Given the description of an element on the screen output the (x, y) to click on. 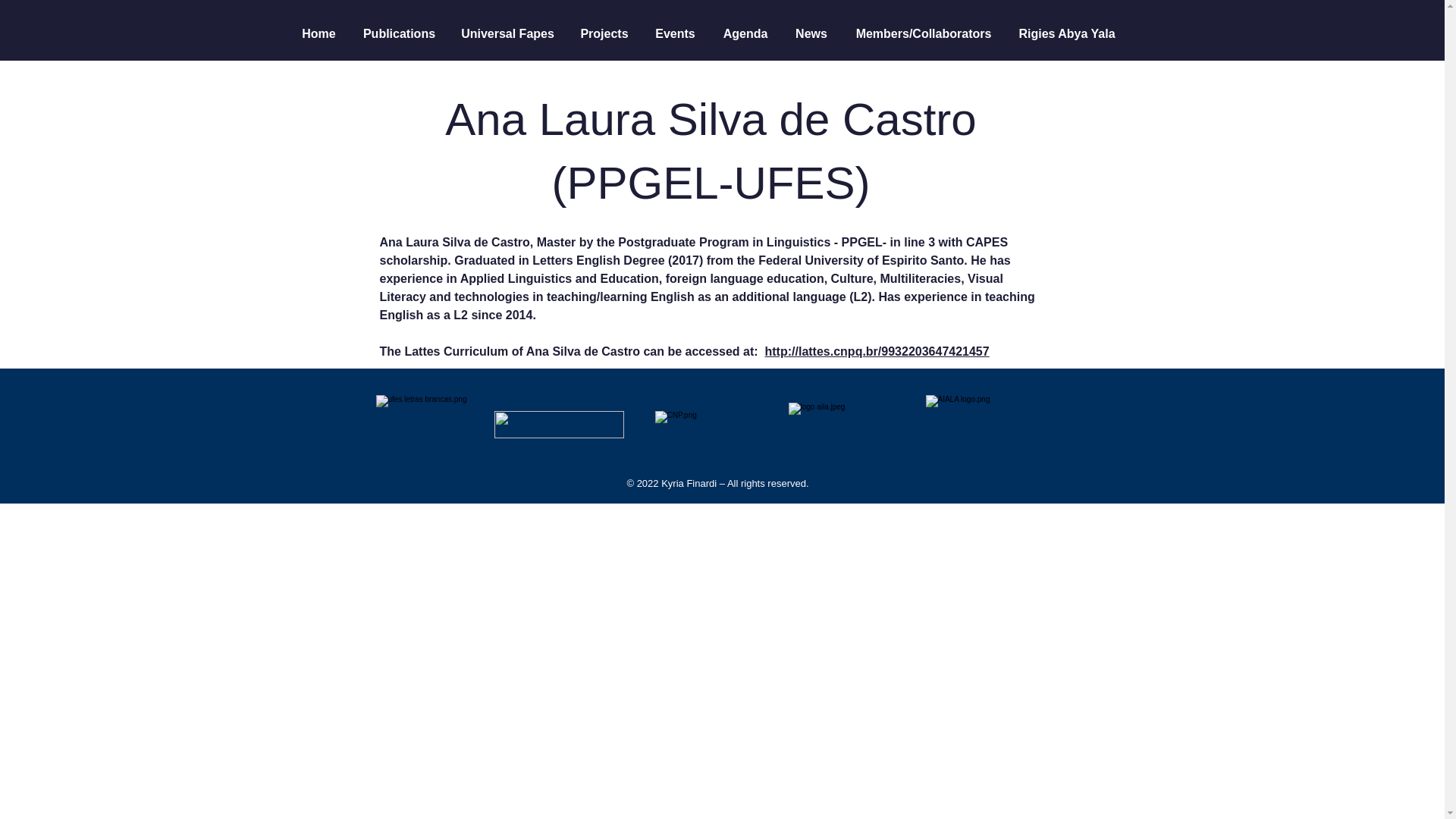
Rigies Abya Yala (1066, 32)
Projects (604, 32)
News (812, 32)
Publications (399, 32)
Home (319, 32)
Agenda (744, 32)
Events (674, 32)
Fapes logo.png (559, 424)
Universal Fapes (507, 32)
